Given the description of an element on the screen output the (x, y) to click on. 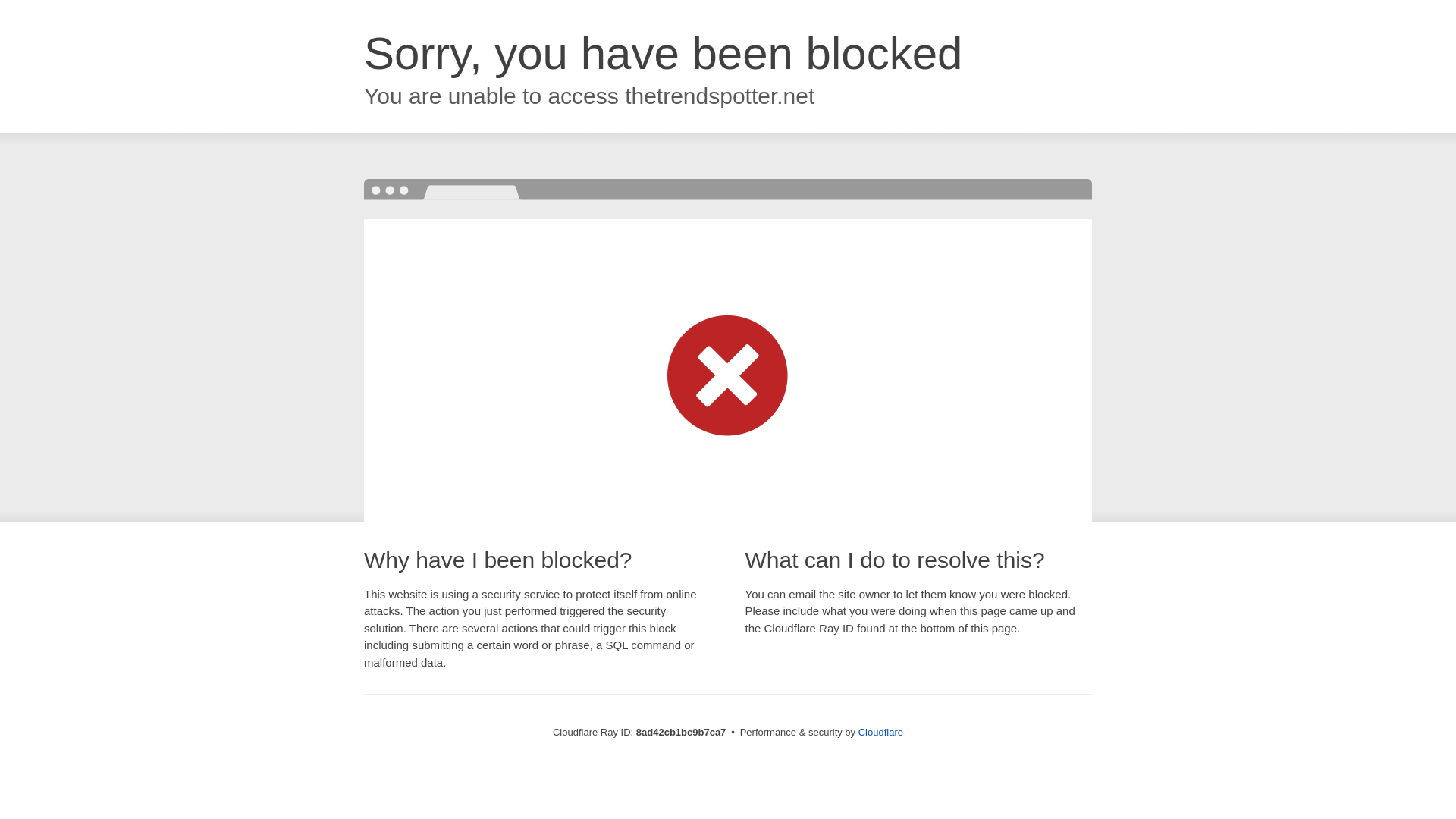
Cloudflare (880, 731)
